Given the description of an element on the screen output the (x, y) to click on. 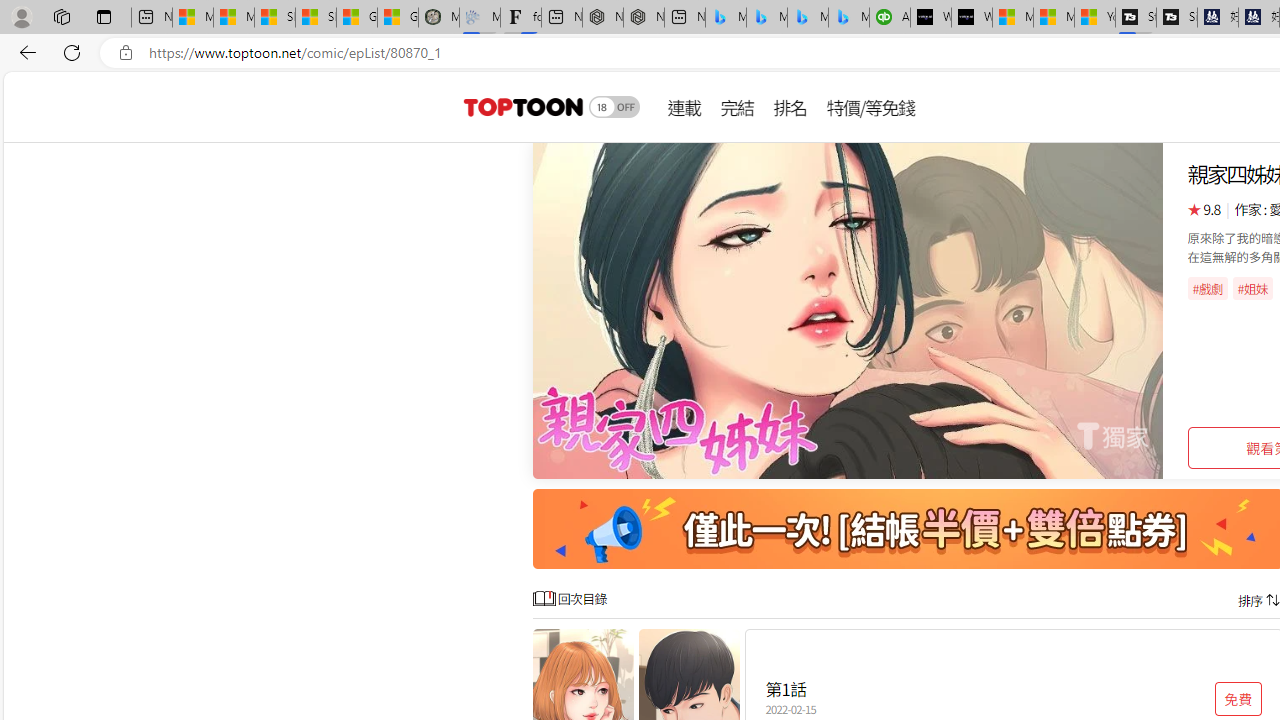
Streaming Coverage | T3 (1135, 17)
header (519, 106)
Microsoft Bing Travel - Shangri-La Hotel Bangkok (849, 17)
